Given the description of an element on the screen output the (x, y) to click on. 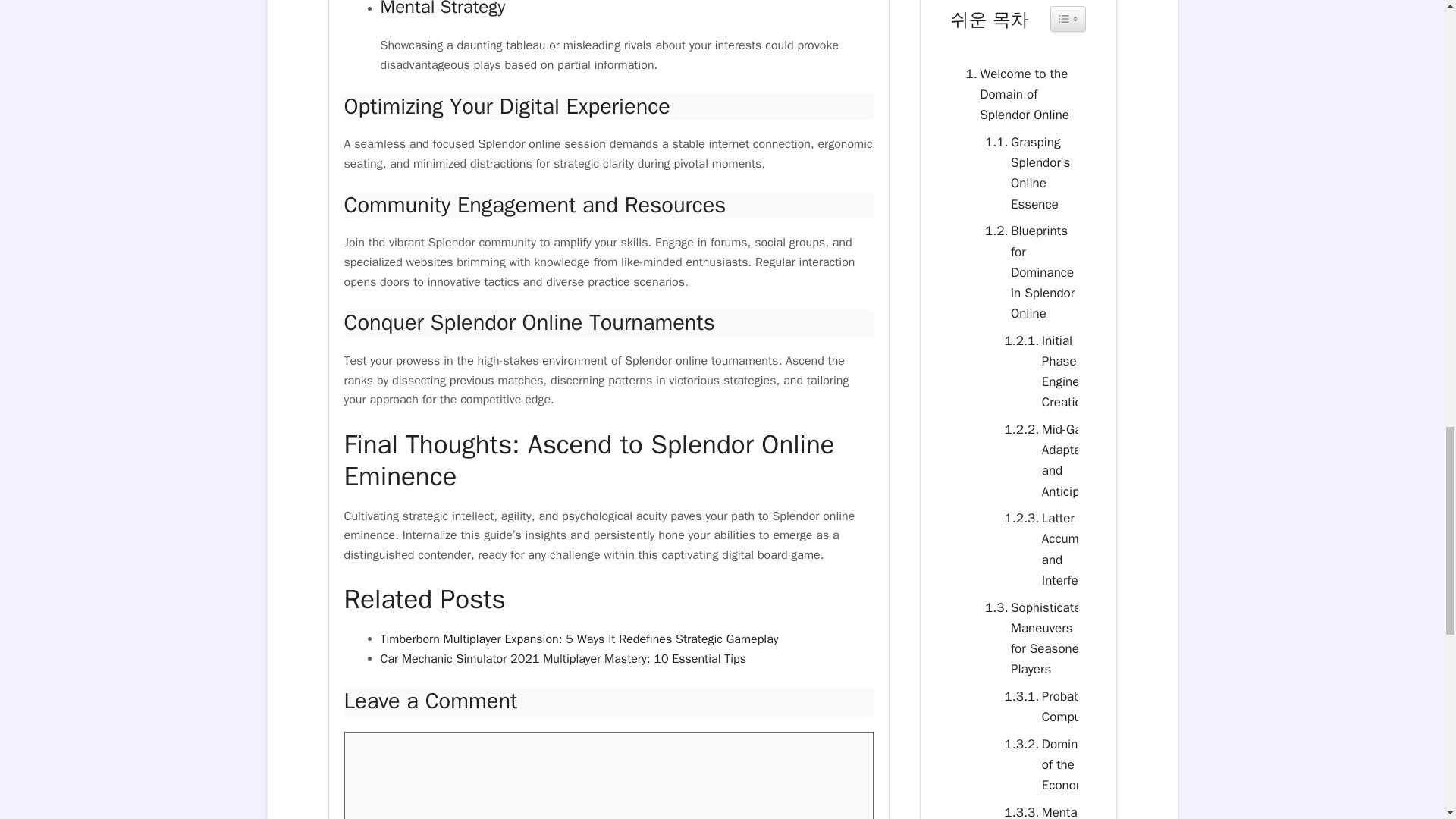
Welcome to the Domain of Splendor Online (1018, 94)
Community Engagement and Resources (534, 204)
